Given the description of an element on the screen output the (x, y) to click on. 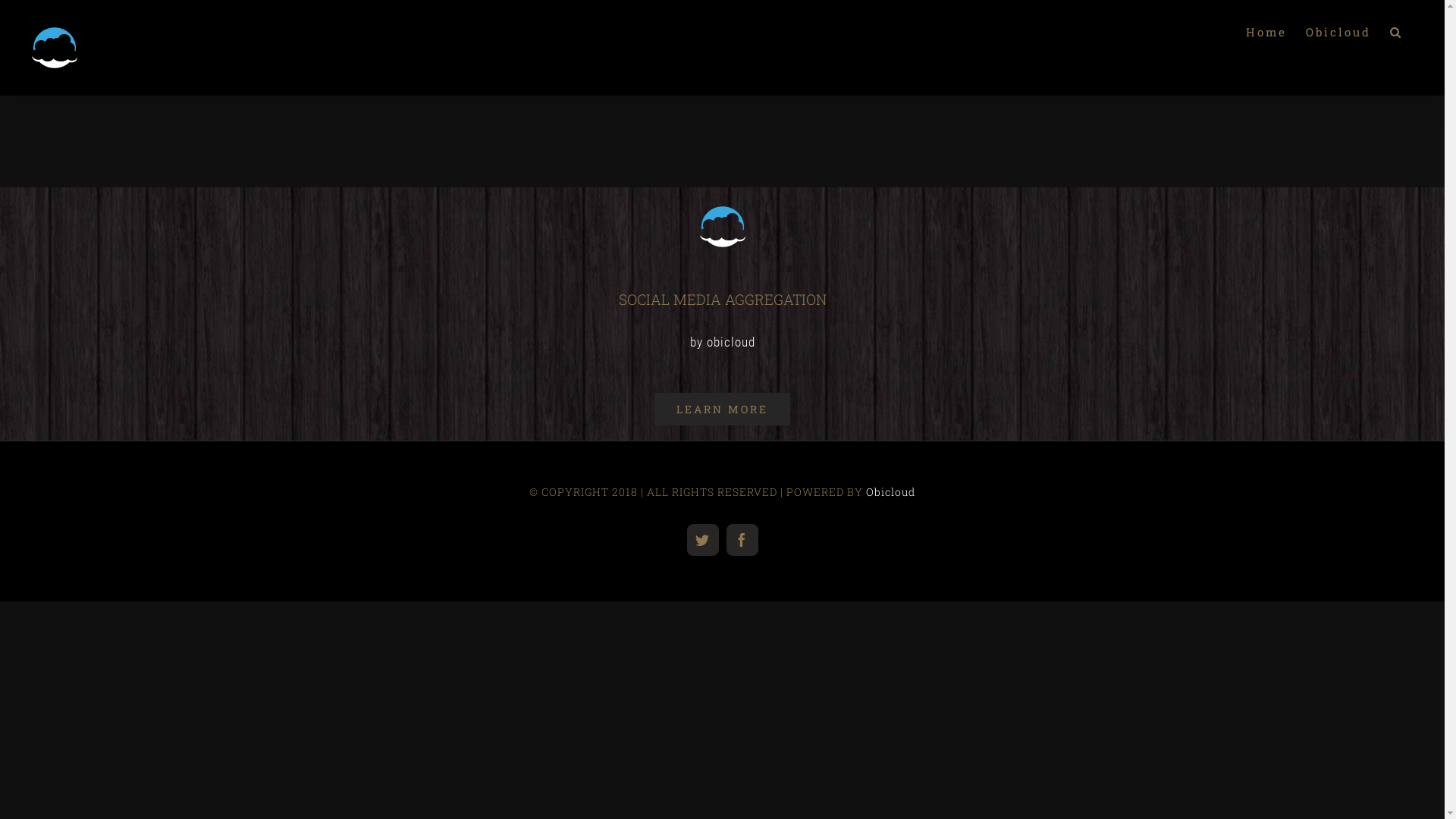
Facebook Element type: text (742, 539)
Twitter Element type: text (702, 539)
LEARN MORE Element type: text (722, 408)
Obicloud Element type: text (890, 491)
Obicloud Element type: text (1338, 31)
Home Element type: text (1265, 31)
Search Element type: hover (1396, 31)
